Given the description of an element on the screen output the (x, y) to click on. 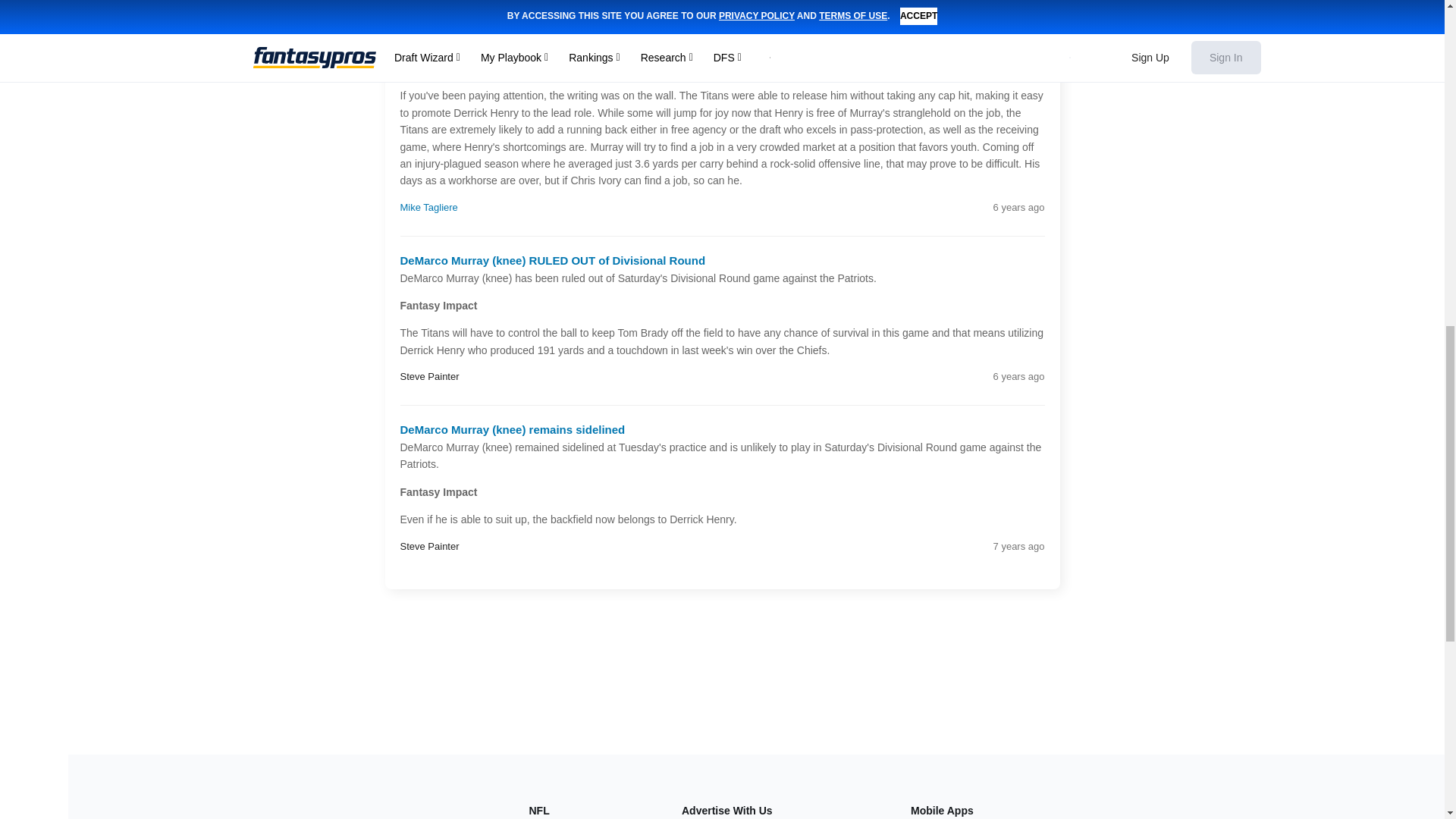
NFL (539, 810)
Mike Tagliere (429, 207)
DeMarco Murray cut by Titans (481, 22)
